Given the description of an element on the screen output the (x, y) to click on. 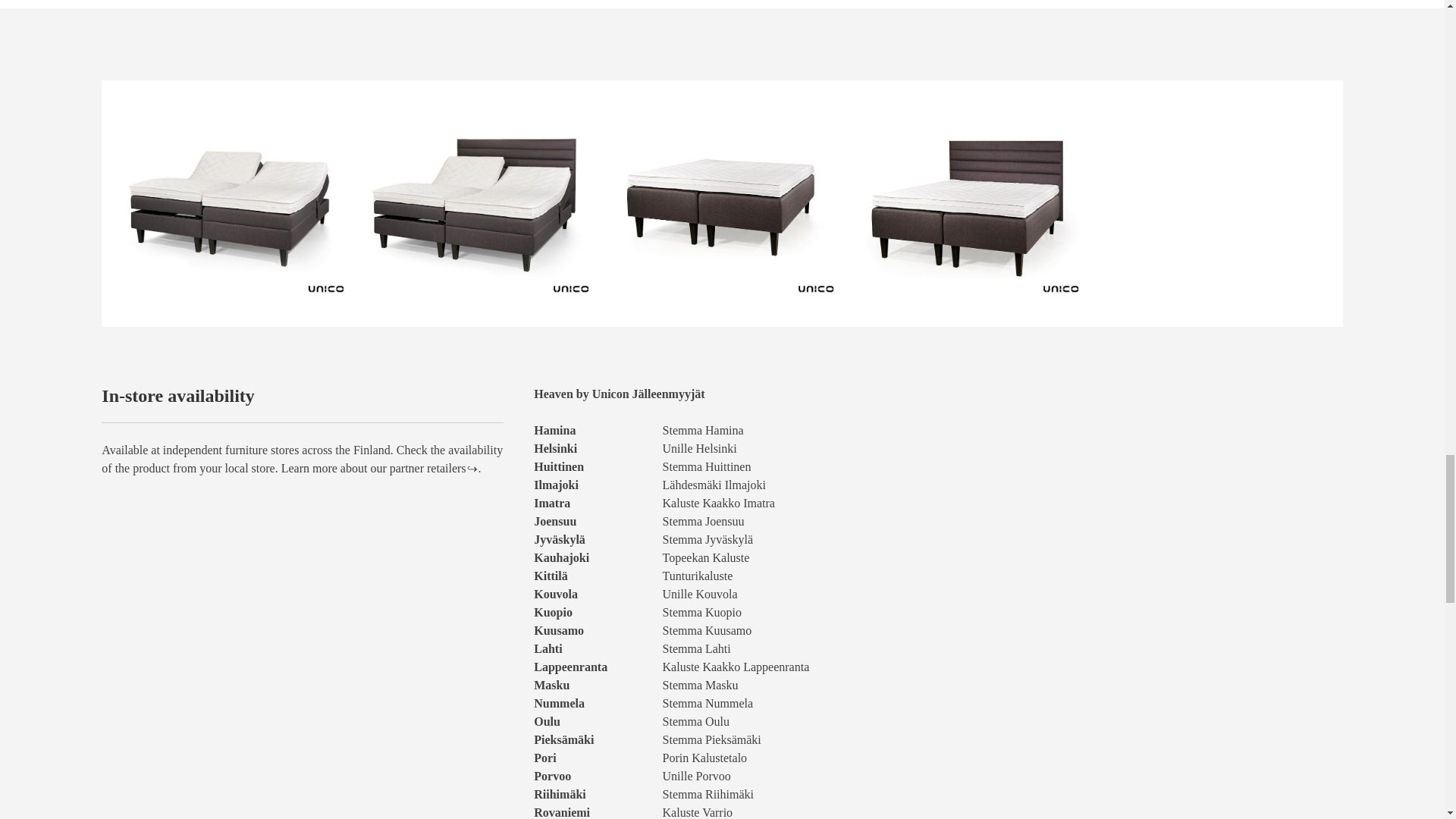
Unico-sensus-RS-768x569-eng (722, 211)
Unico-sensus-MS-paaty-768x569-eng (477, 211)
Learn more about our partner retailers (373, 467)
Unico-sensus-MS-768x569-eng (231, 211)
Unico-sensus-RS-paaty-768x569-eng (966, 211)
